Given the description of an element on the screen output the (x, y) to click on. 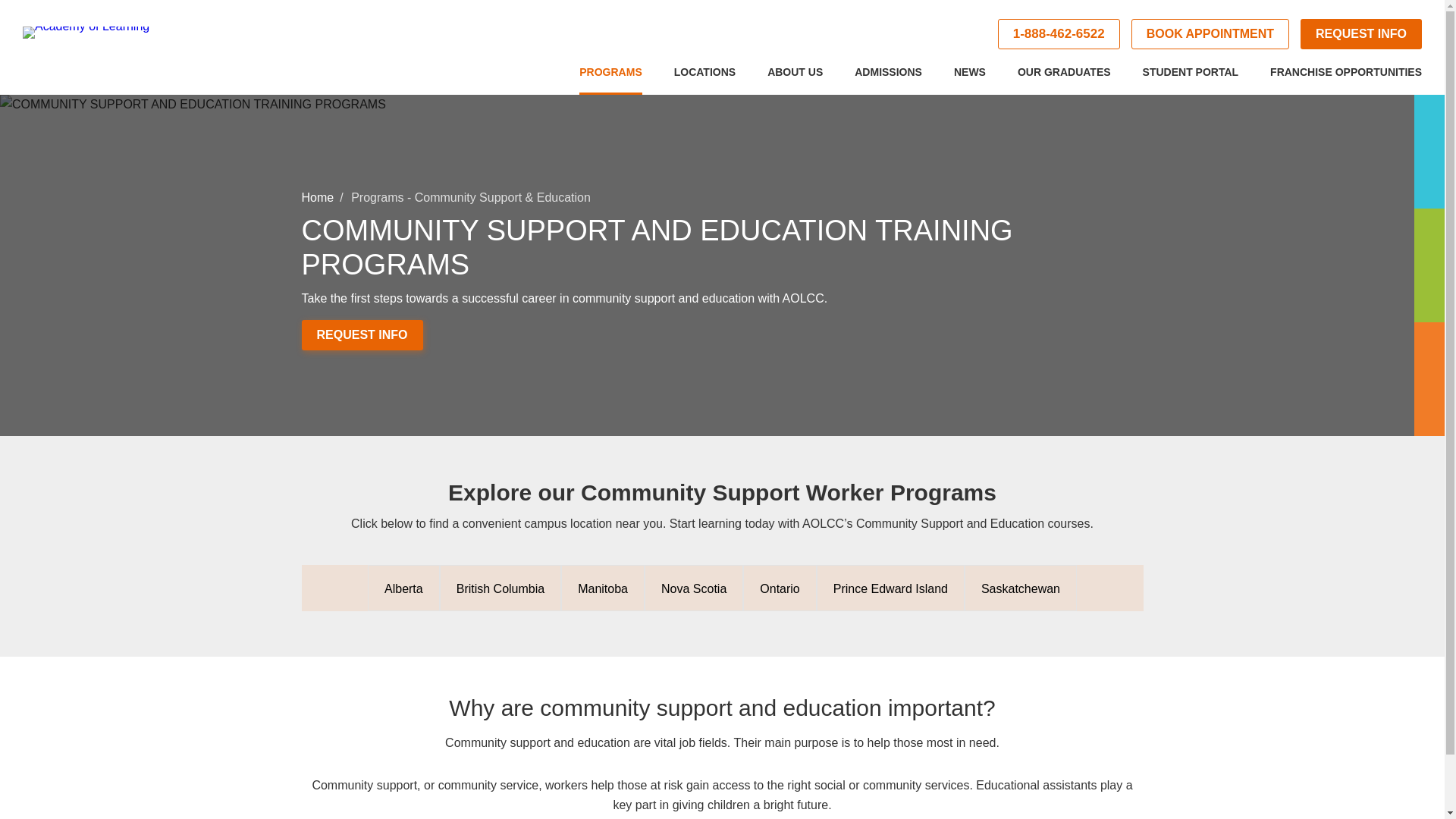
REQUEST INFO (1361, 33)
1-888-462-6522 (1058, 33)
PROGRAMS (610, 79)
BOOK APPOINTMENT (1209, 33)
Locations (704, 79)
Request Info (1361, 33)
1-888-462-6522 (1058, 33)
Academy of Learning (117, 46)
Book Appointment (1209, 33)
LOCATIONS (704, 79)
